Given the description of an element on the screen output the (x, y) to click on. 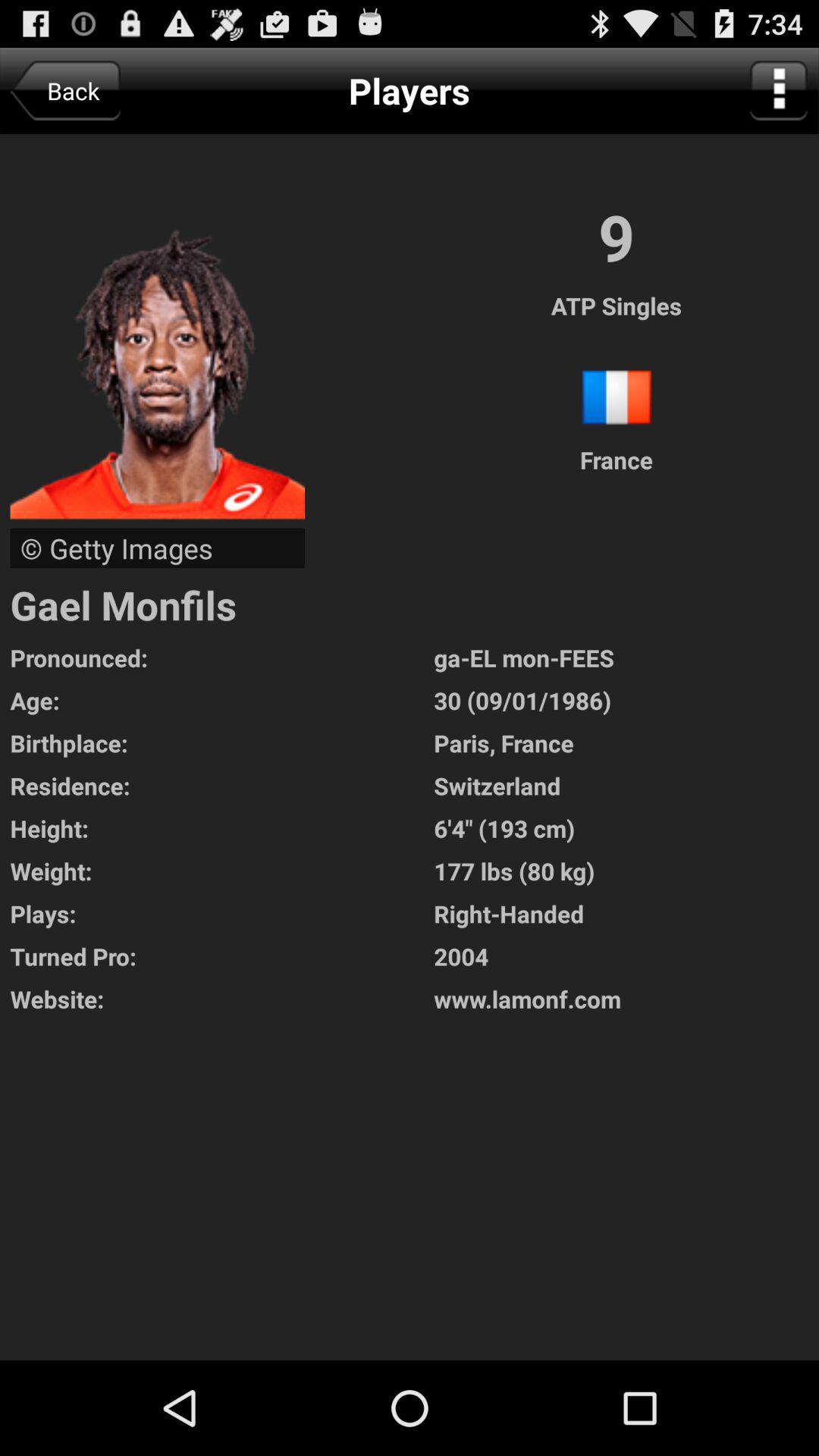
turn on height: (221, 828)
